Given the description of an element on the screen output the (x, y) to click on. 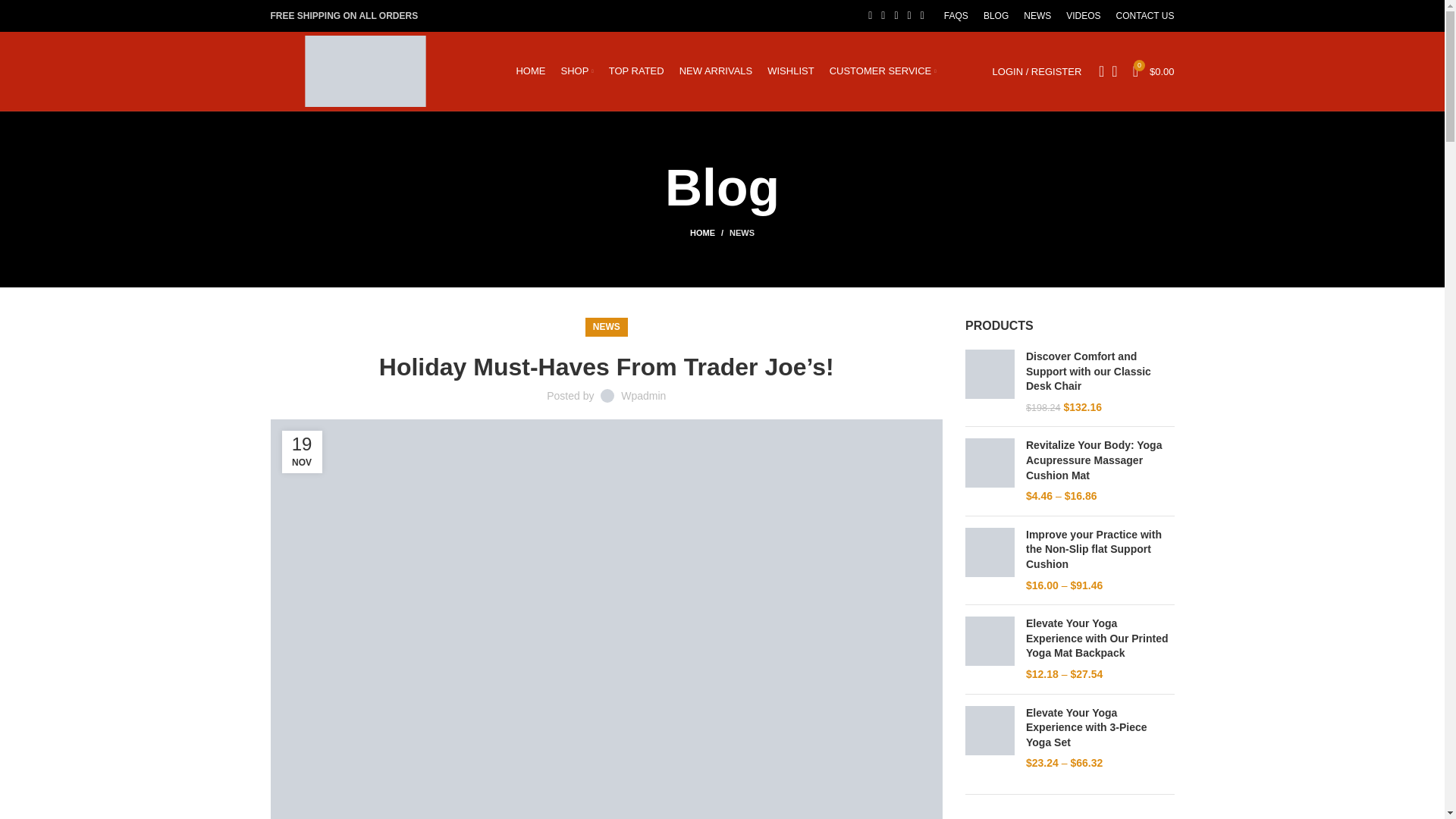
CONTACT US (1145, 15)
Log in (956, 312)
Revitalize Your Body: Yoga Acupressure Massager Cushion Mat (1100, 460)
Improve your Practice with the Non-Slip flat Support Cushion (1100, 549)
NEWS (1037, 15)
TOP RATED (635, 71)
WISHLIST (790, 71)
Shopping cart (1153, 71)
My account (1037, 71)
VIDEOS (1082, 15)
NEW ARRIVALS (715, 71)
CUSTOMER SERVICE (882, 71)
Elevate Your Yoga Experience with 3-Piece Yoga Set (1100, 728)
HOME (529, 71)
Discover Comfort and Support with our Classic Desk Chair (1100, 371)
